Given the description of an element on the screen output the (x, y) to click on. 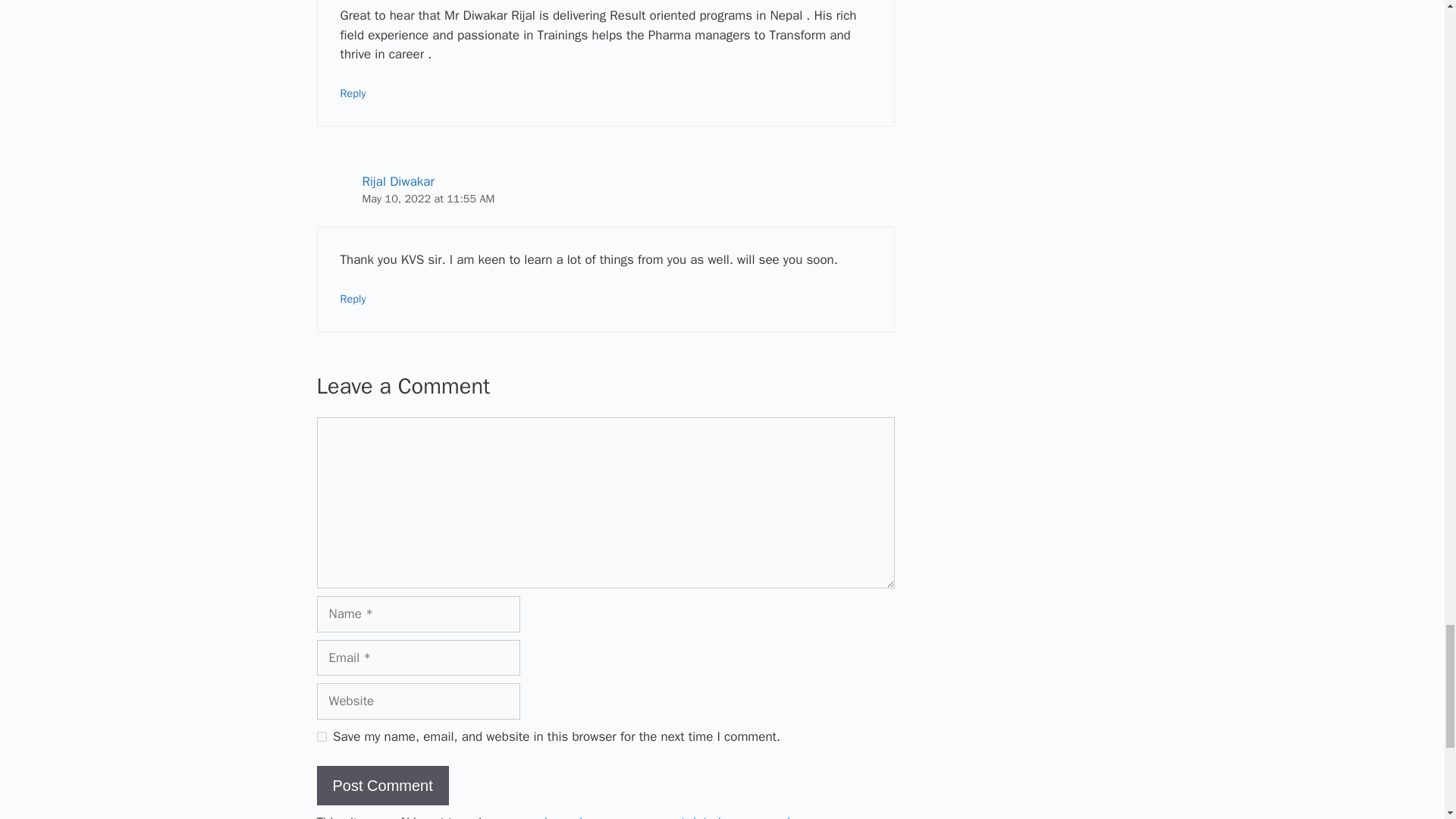
Post Comment (382, 785)
Reply (352, 92)
May 10, 2022 at 11:55 AM (428, 198)
yes (321, 737)
Learn how your comment data is processed (667, 816)
Rijal Diwakar (397, 181)
Reply (352, 298)
Post Comment (382, 785)
